Given the description of an element on the screen output the (x, y) to click on. 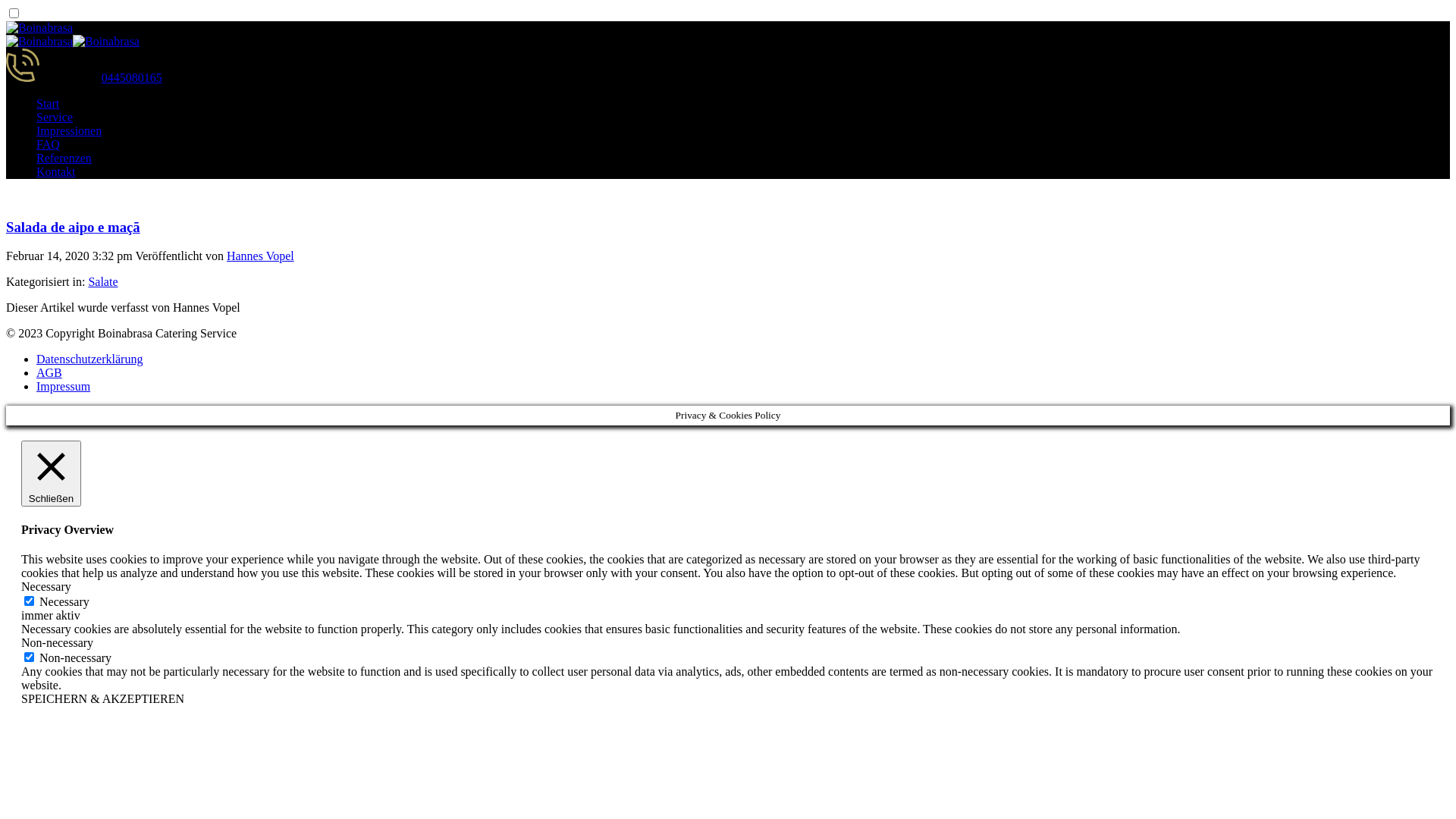
Impressionen Element type: text (68, 130)
Necessary Element type: text (46, 586)
Referenzen Element type: text (63, 157)
Kontakt Element type: text (55, 171)
AGB Element type: text (49, 372)
0445080165 Element type: text (131, 77)
Salate Element type: text (102, 281)
Service Element type: text (54, 116)
Start Element type: text (47, 103)
SPEICHERN & AKZEPTIEREN Element type: text (102, 698)
Non-necessary Element type: text (57, 642)
FAQ Element type: text (47, 144)
Hannes Vopel Element type: text (260, 255)
Impressum Element type: text (63, 385)
